Given the description of an element on the screen output the (x, y) to click on. 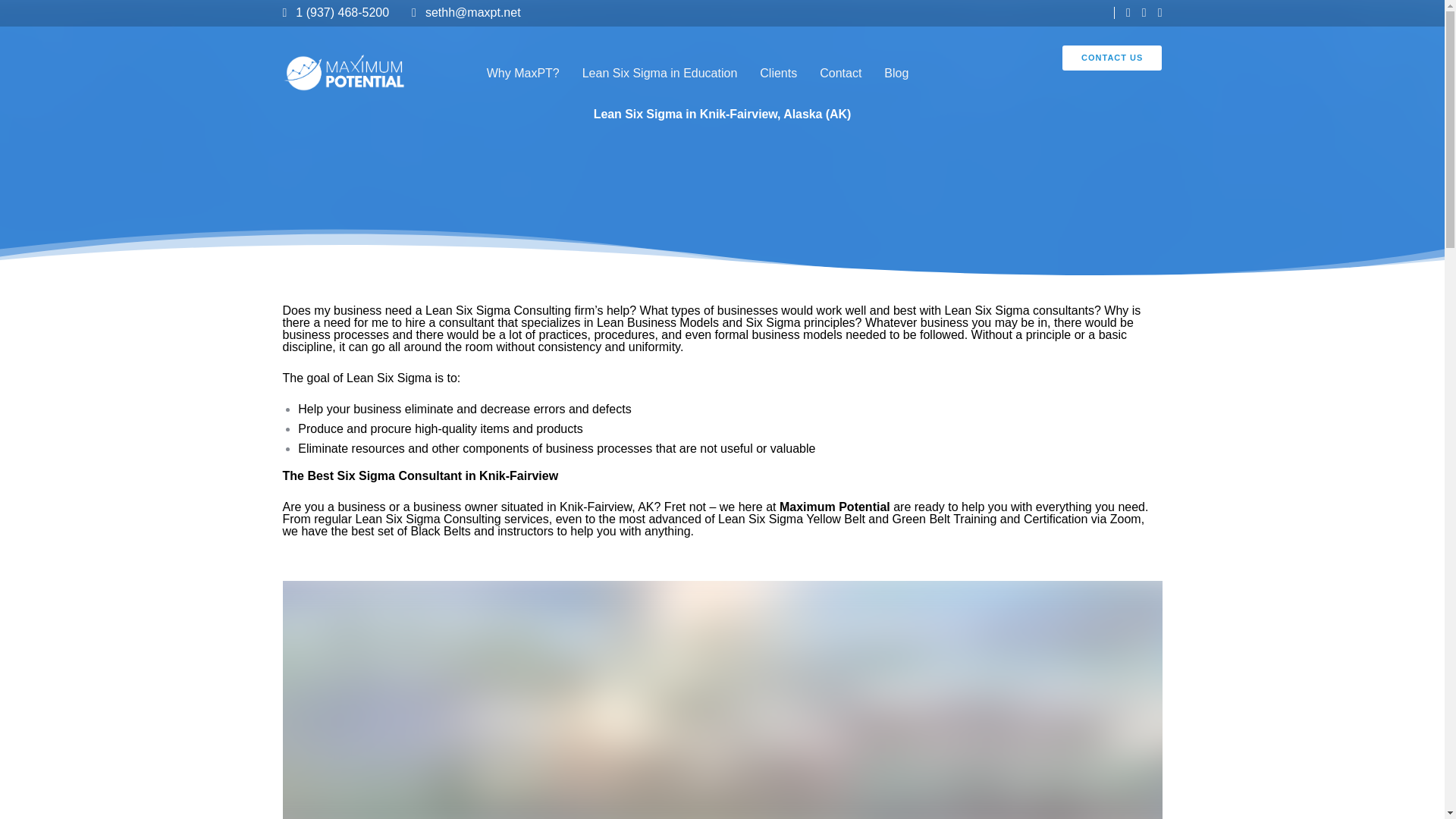
CONTACT US (1111, 57)
Lean Six Sigma Consulting services (451, 518)
Why MaxPT? (523, 72)
Lean Six Sigma in Education (660, 72)
Contact (840, 72)
Blog (895, 72)
Why MaxPT? (523, 72)
Contact (840, 72)
Lean Six Sigma in Education (660, 72)
